Given the description of an element on the screen output the (x, y) to click on. 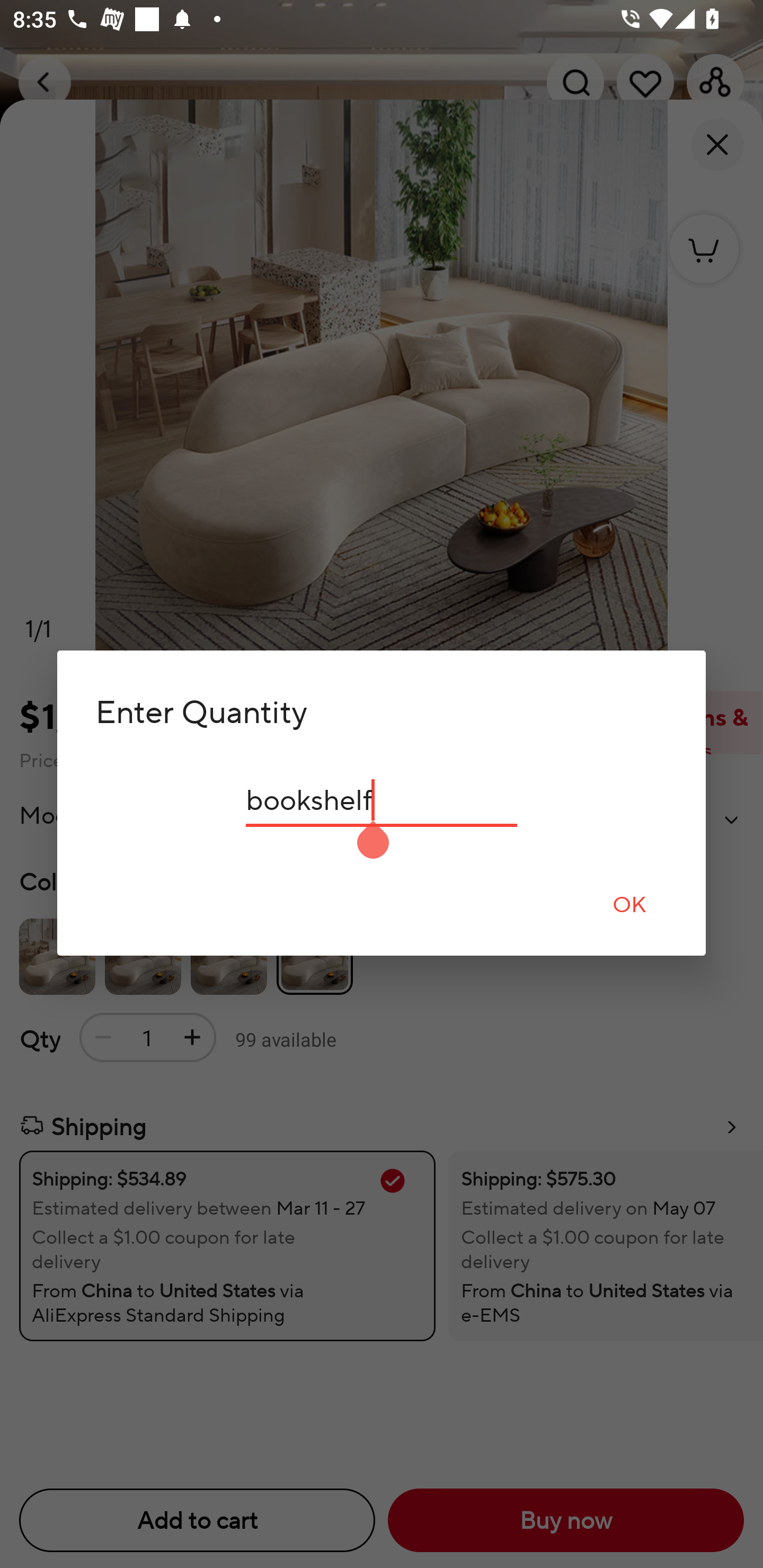
bookshelf (381, 800)
OK (629, 904)
